Given the description of an element on the screen output the (x, y) to click on. 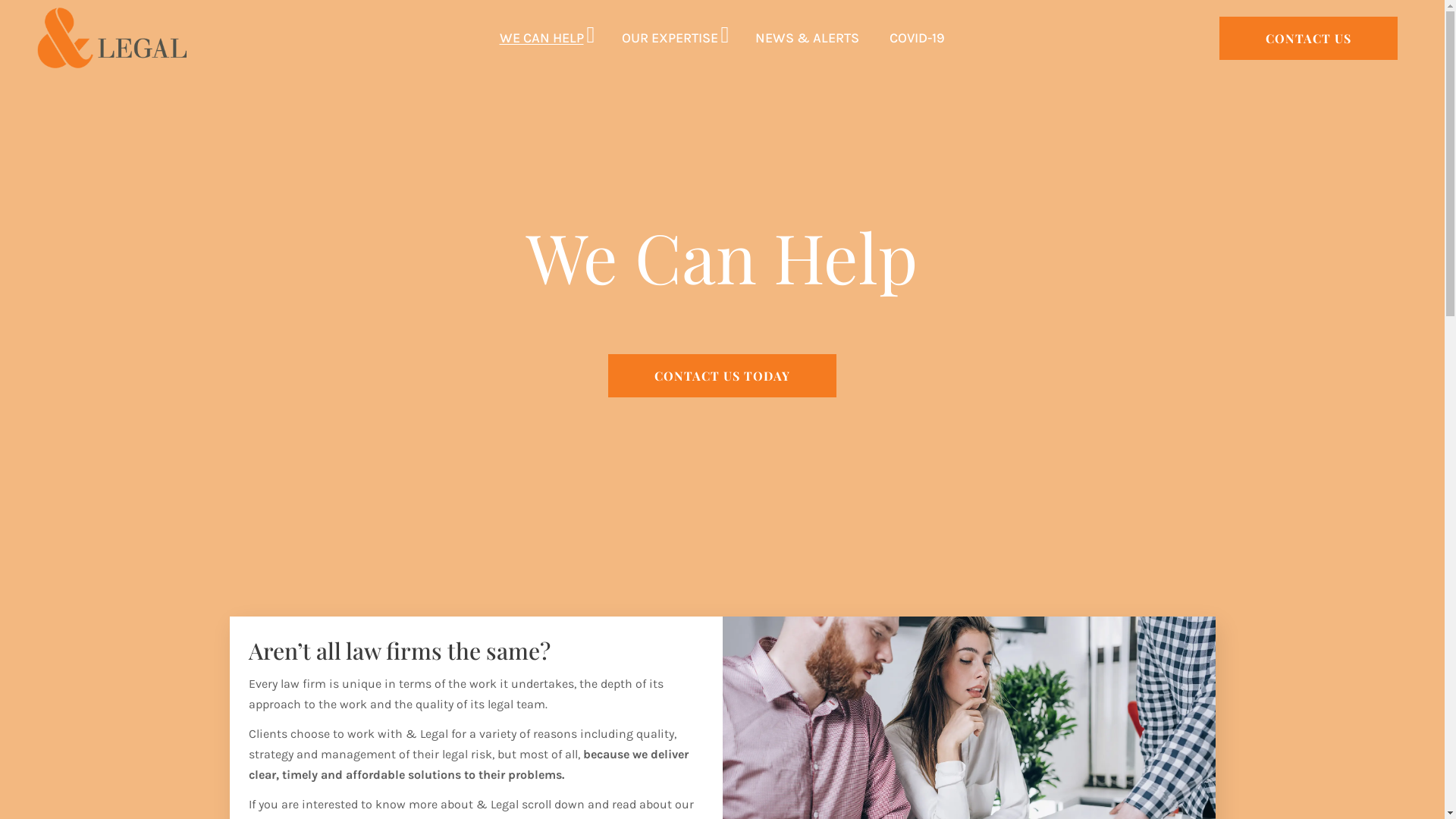
OUR EXPERTISE Element type: text (669, 37)
COVID-19 Element type: text (917, 37)
CONTACT US Element type: text (1308, 37)
CONTACT US TODAY Element type: text (722, 375)
NEWS & ALERTS Element type: text (807, 37)
WE CAN HELP Element type: text (541, 37)
